Given the description of an element on the screen output the (x, y) to click on. 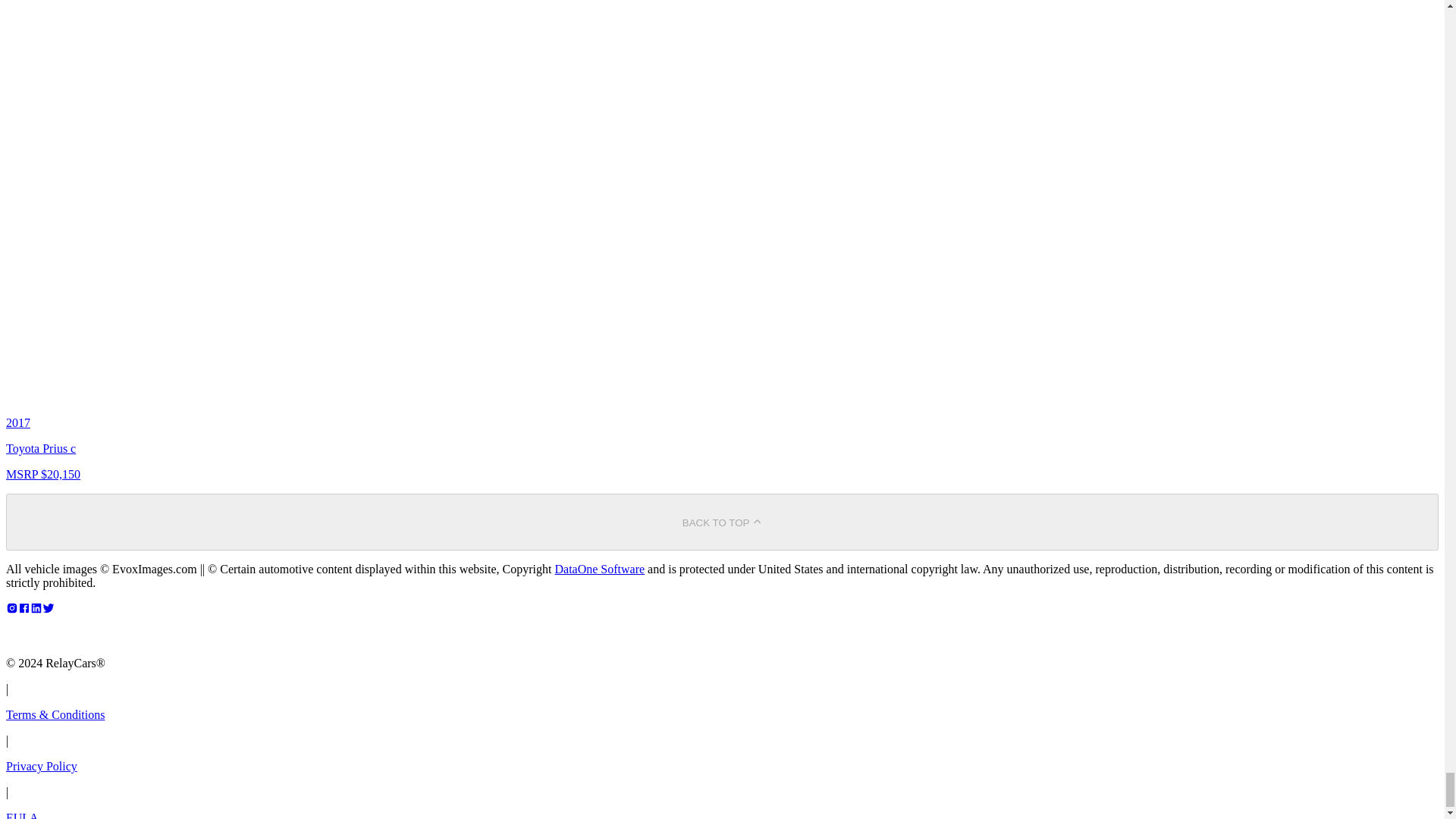
DataOne Software (599, 568)
